Given the description of an element on the screen output the (x, y) to click on. 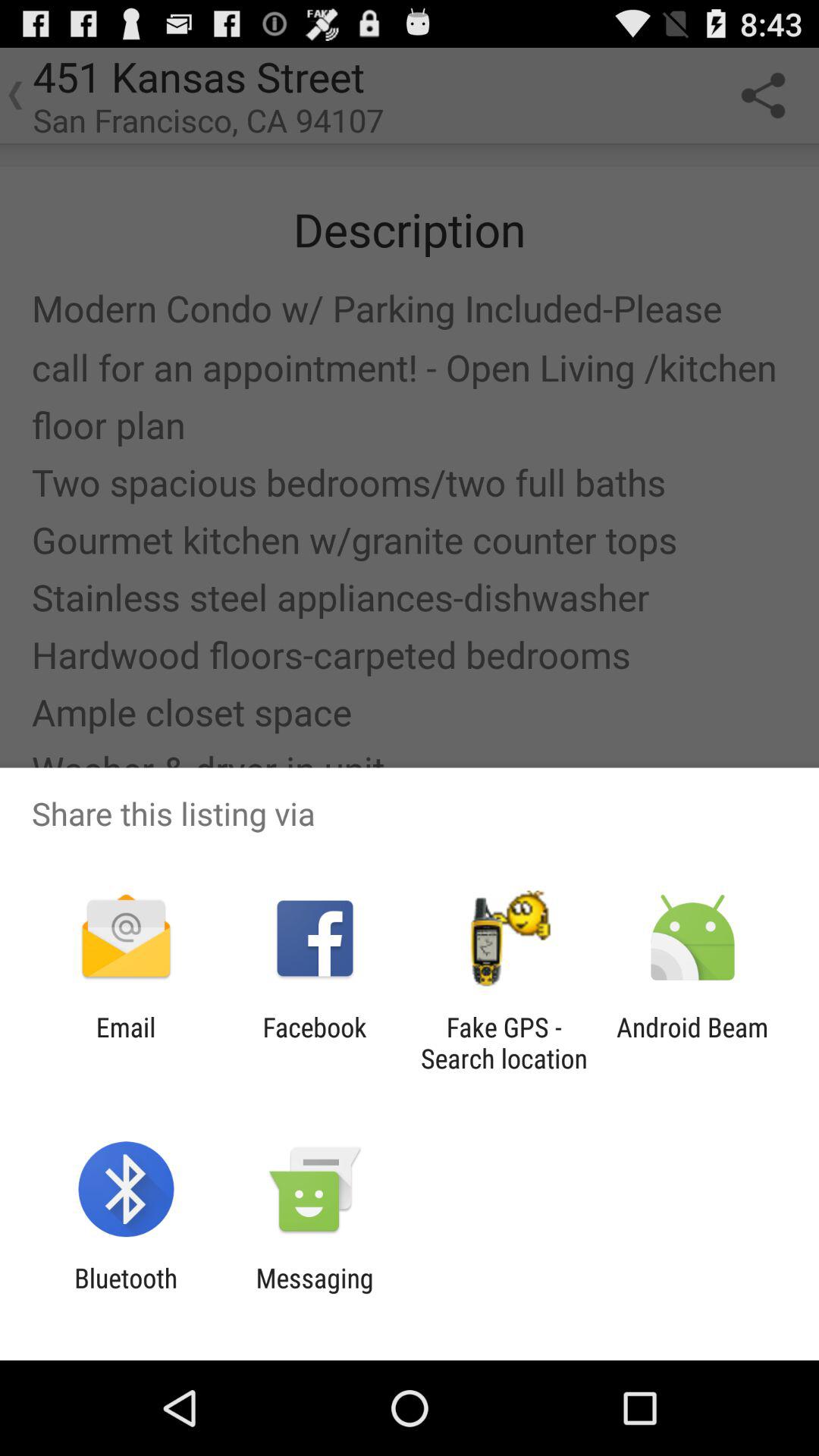
select the app to the right of facebook item (503, 1042)
